Given the description of an element on the screen output the (x, y) to click on. 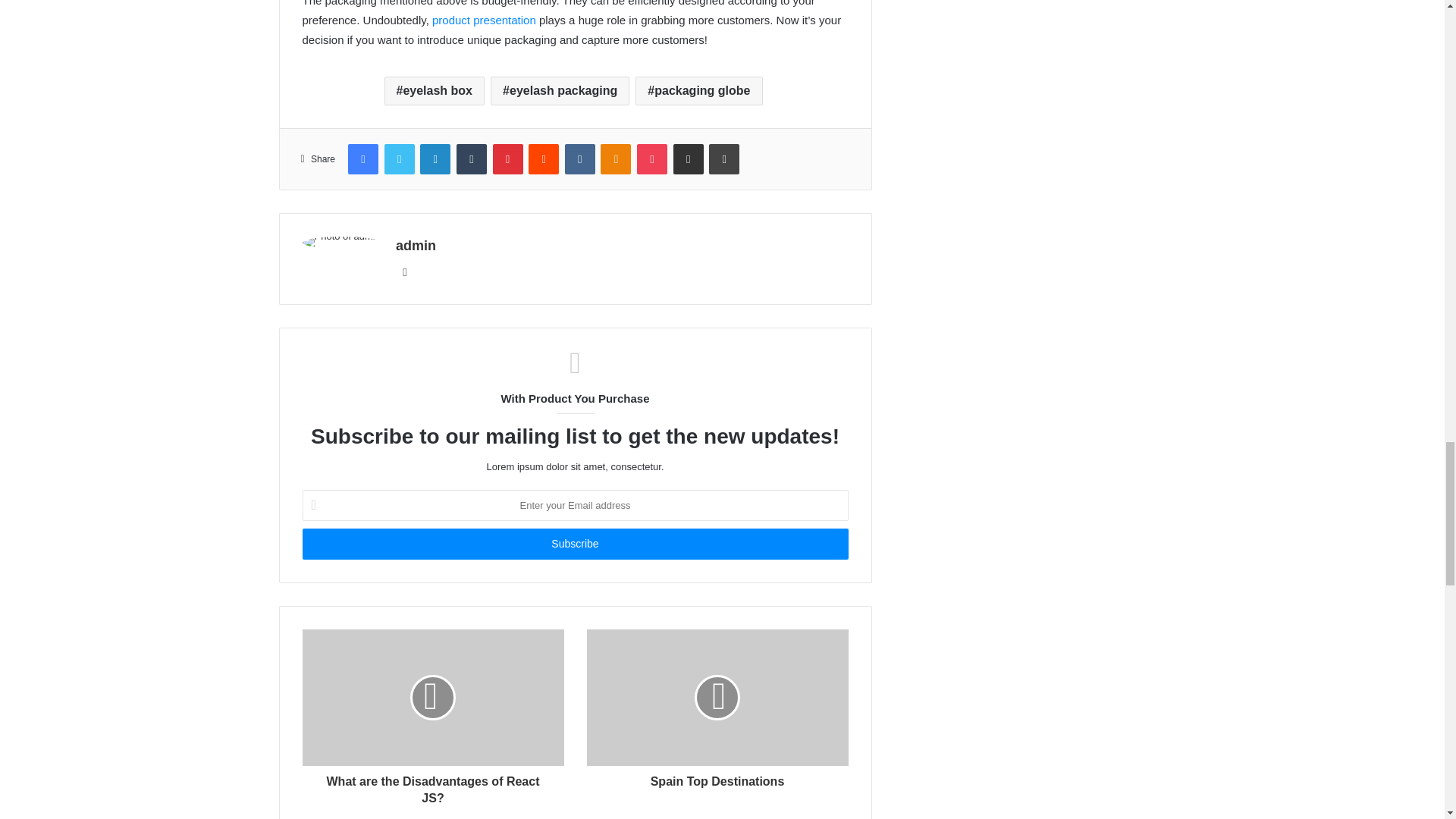
Subscribe (574, 543)
eyelash packaging (559, 90)
eyelash box (434, 90)
product presentation (483, 19)
packaging globe (697, 90)
